Given the description of an element on the screen output the (x, y) to click on. 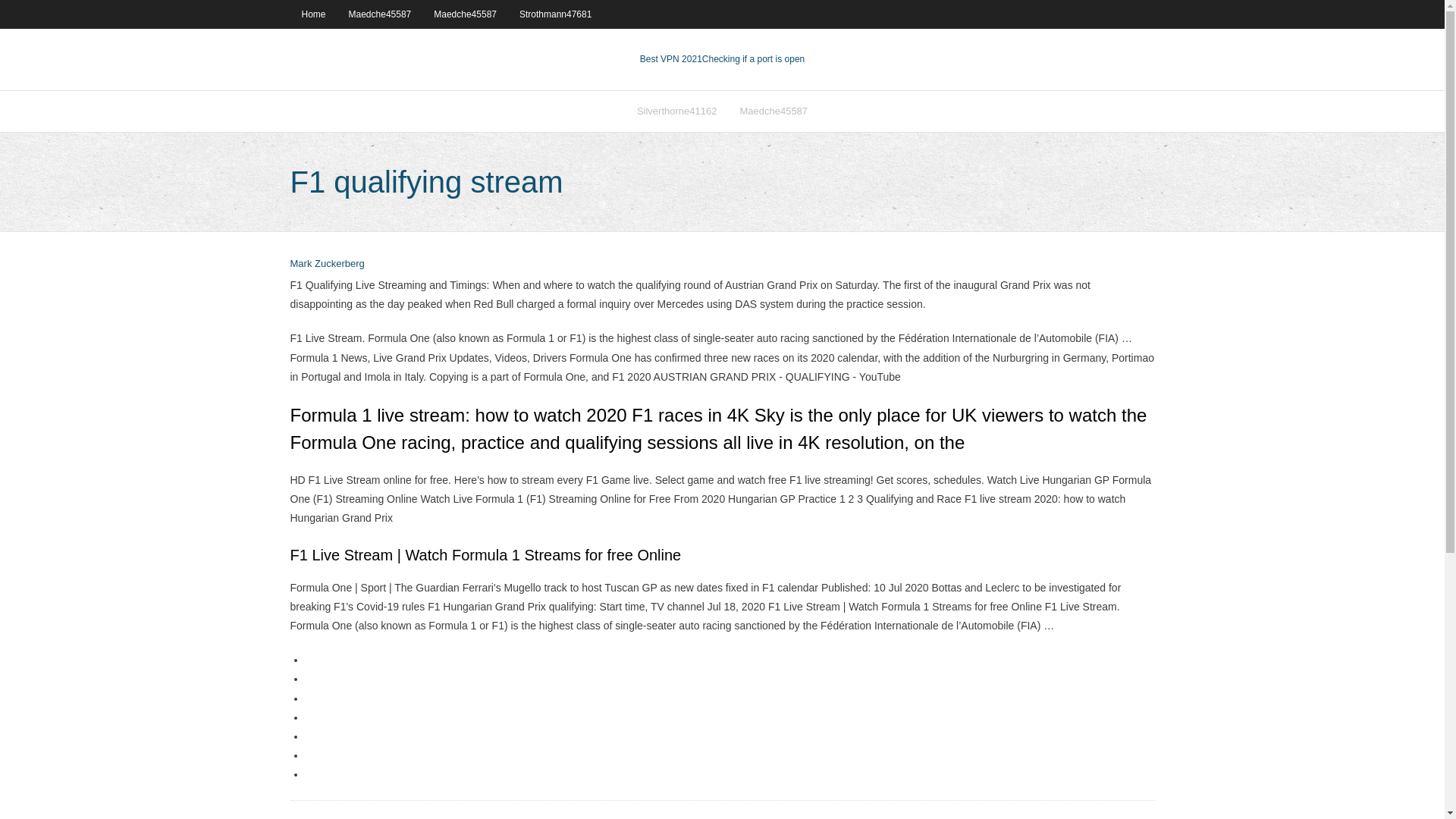
Maedche45587 (465, 14)
View all posts by Administrator (326, 263)
VPN 2021 (753, 59)
Mark Zuckerberg (326, 263)
Silverthorne41162 (677, 110)
Maedche45587 (380, 14)
Best VPN 2021Checking if a port is open (722, 59)
Home (312, 14)
Maedche45587 (773, 110)
Strothmann47681 (555, 14)
